Given the description of an element on the screen output the (x, y) to click on. 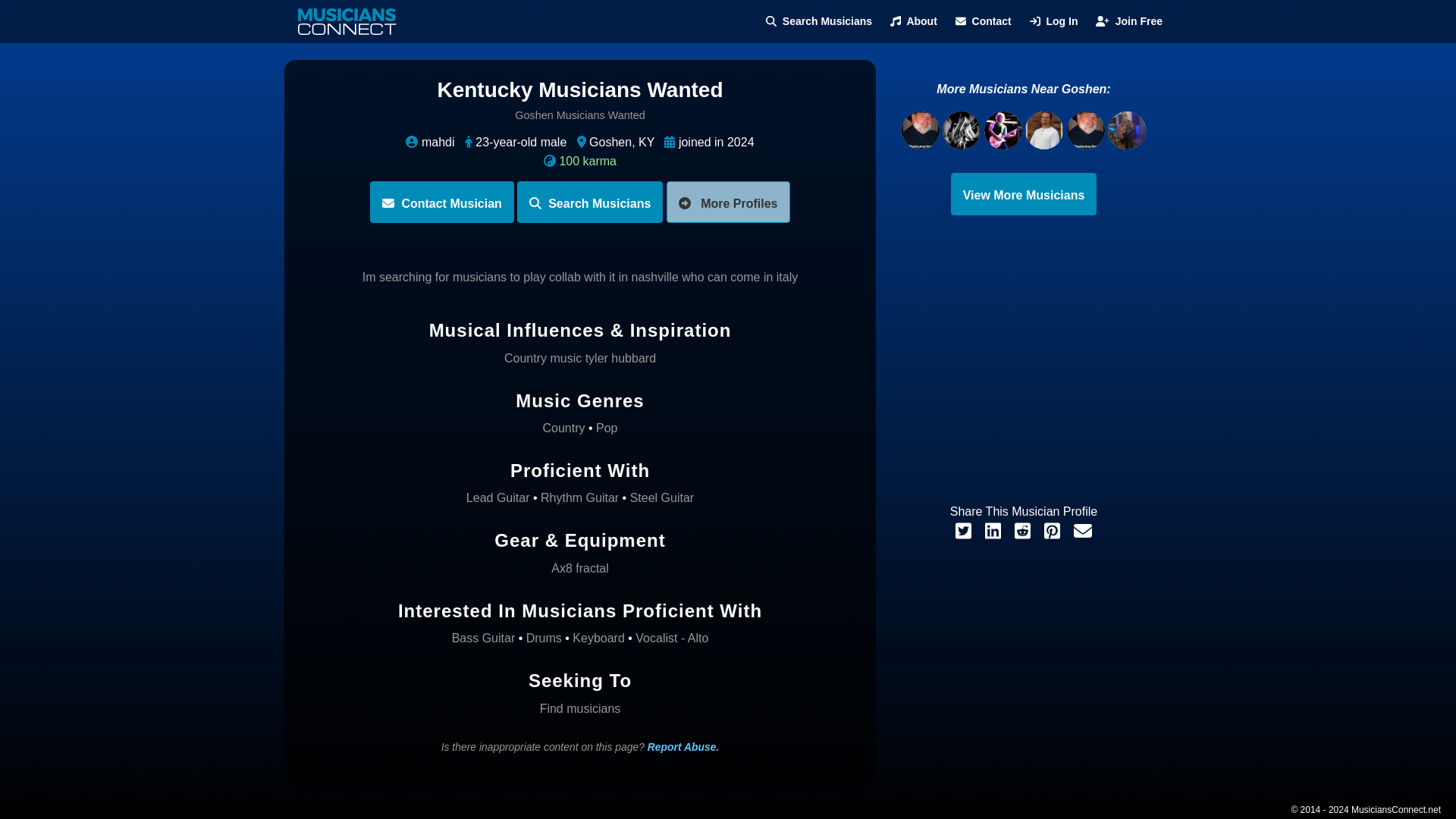
  Contact (983, 21)
Report Abuse. (683, 746)
Hebron Musicians Wanted (963, 129)
  Search Musicians (589, 201)
Advertisement (1023, 367)
Country (563, 427)
Create your free account and profile (1129, 21)
Contact MusiciansConnect.net (983, 21)
Goshen Musicians (1023, 193)
  Search Musicians (818, 21)
  Log In (1053, 21)
Studio Guy (1045, 129)
  Contact Musician (441, 201)
Classic Country ? Inspirational Country (921, 129)
Pop (606, 427)
